Given the description of an element on the screen output the (x, y) to click on. 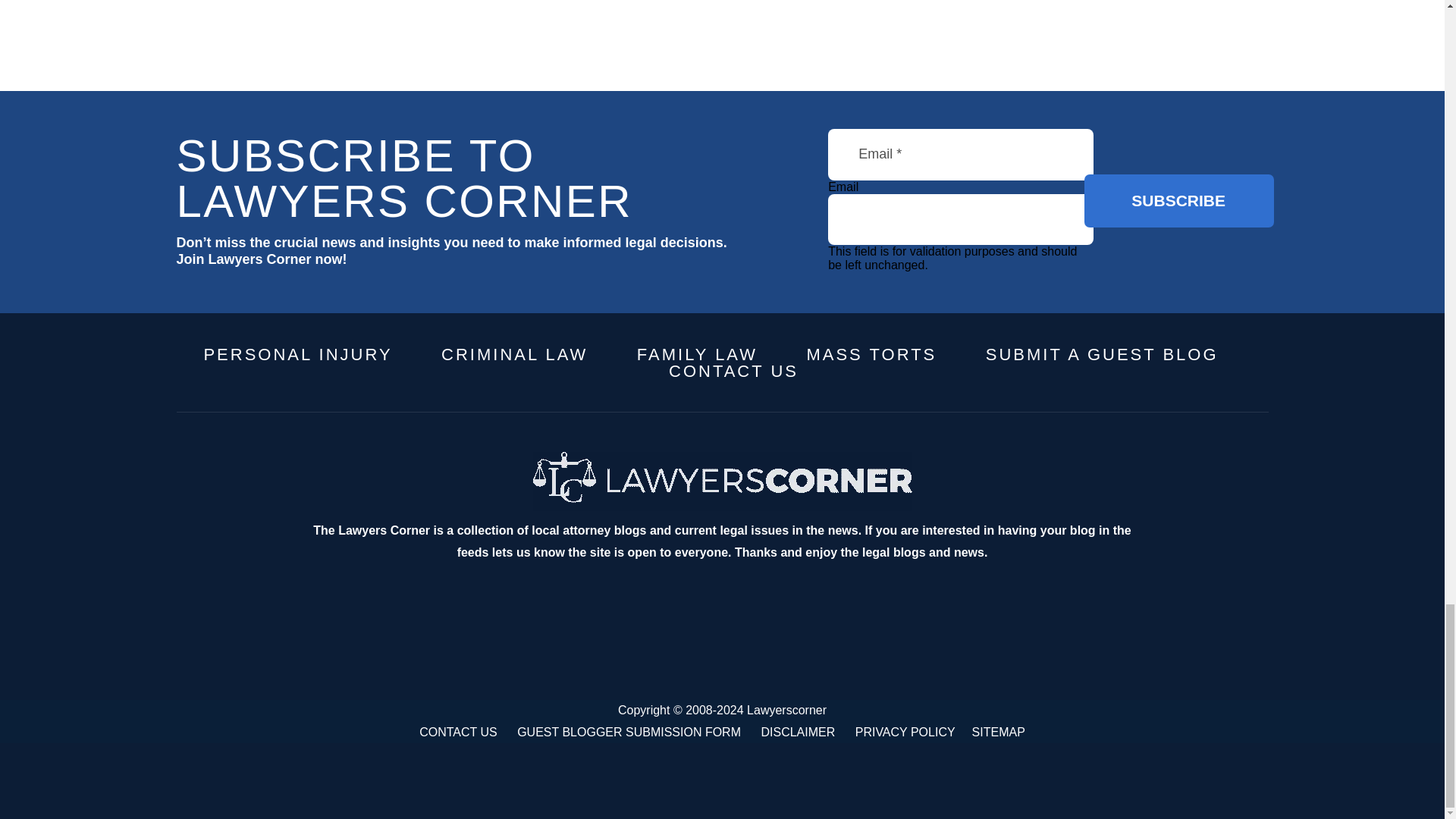
Subscribe (1179, 200)
